Given the description of an element on the screen output the (x, y) to click on. 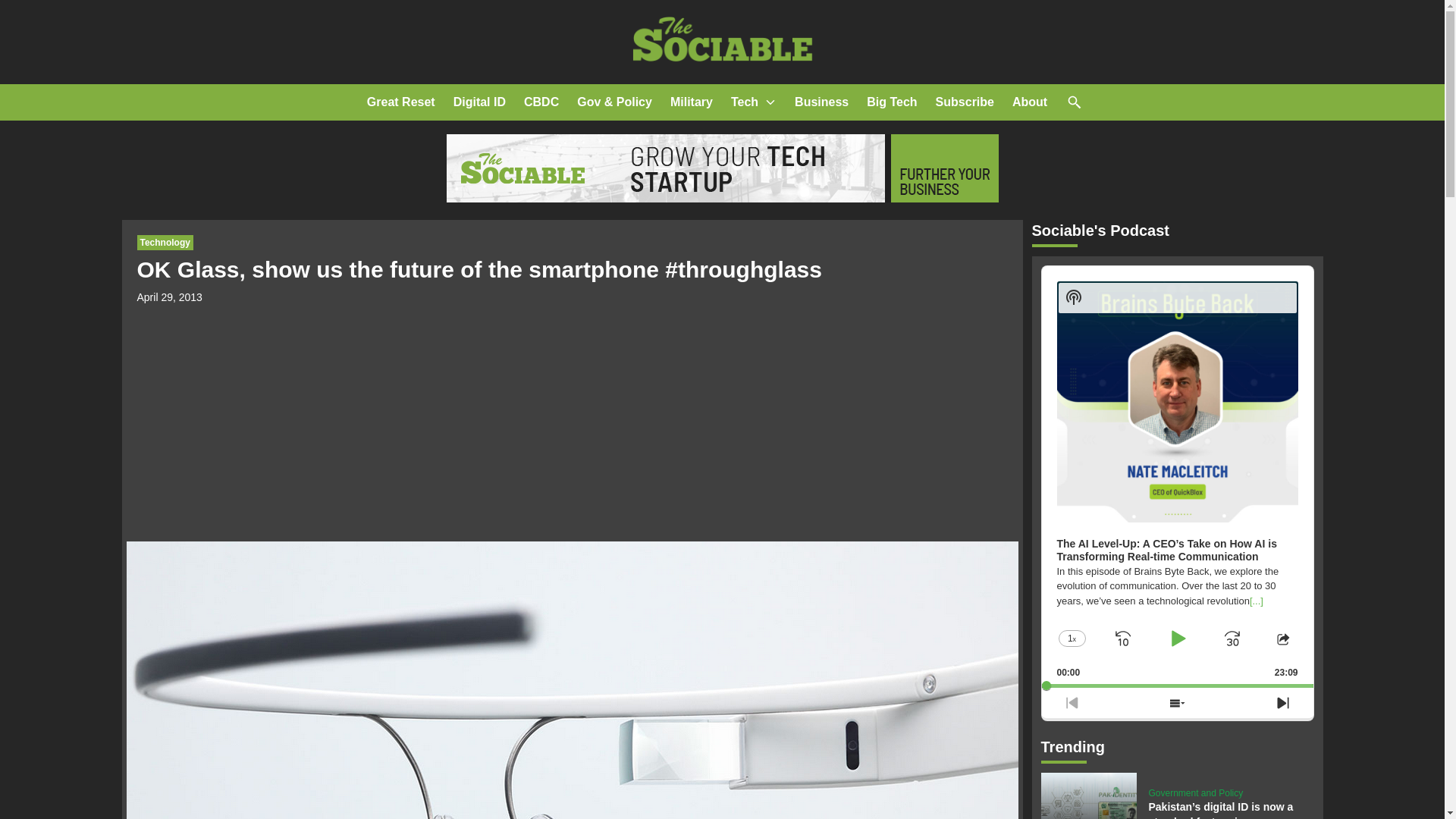
Business (821, 102)
Digital ID (478, 102)
Subscribe (965, 102)
Tech (744, 102)
Technology (164, 242)
Big Tech (891, 102)
CBDC (541, 102)
Great Reset (400, 102)
Military (691, 102)
